Given the description of an element on the screen output the (x, y) to click on. 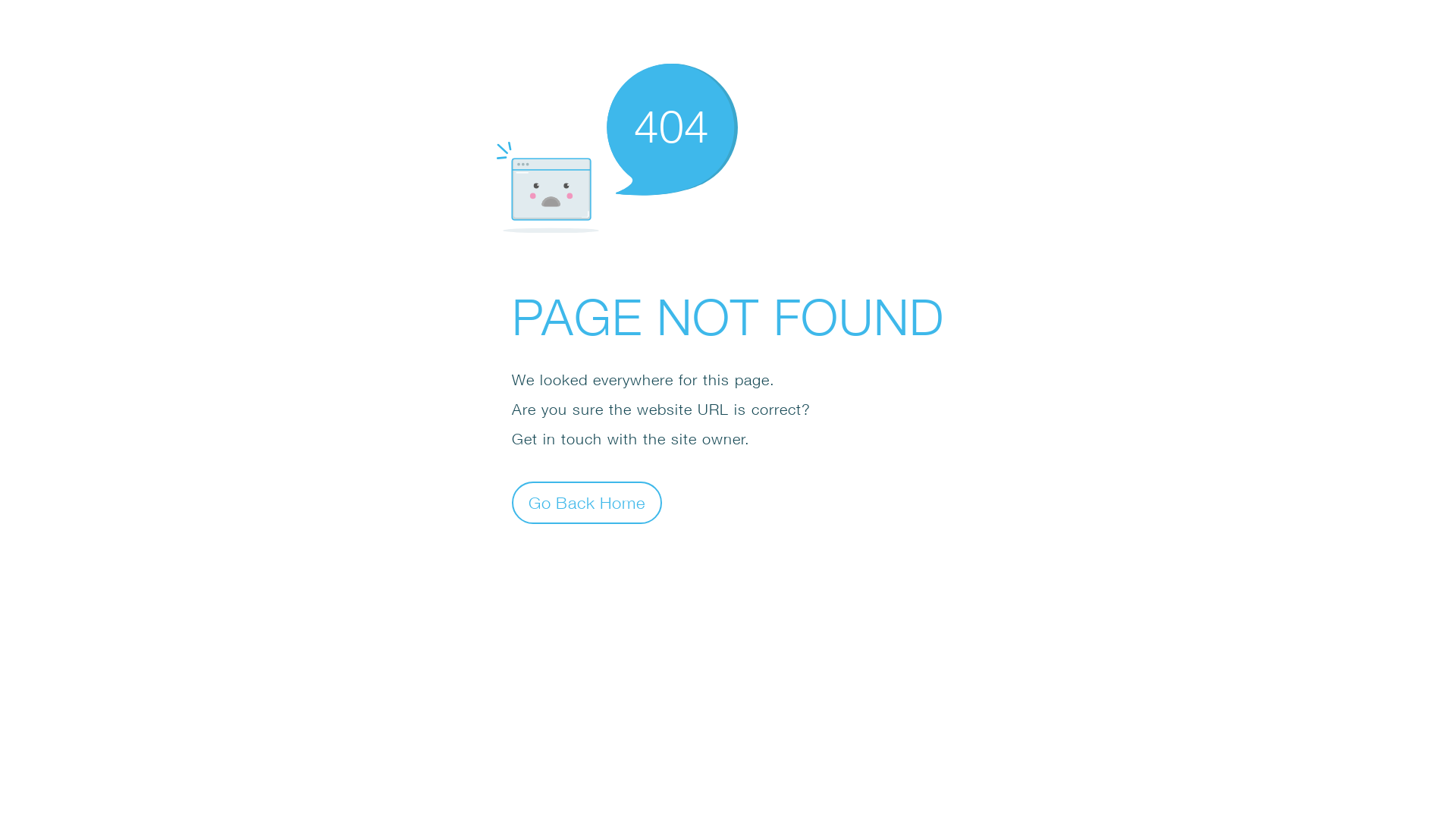
Go Back Home Element type: text (586, 502)
